Given the description of an element on the screen output the (x, y) to click on. 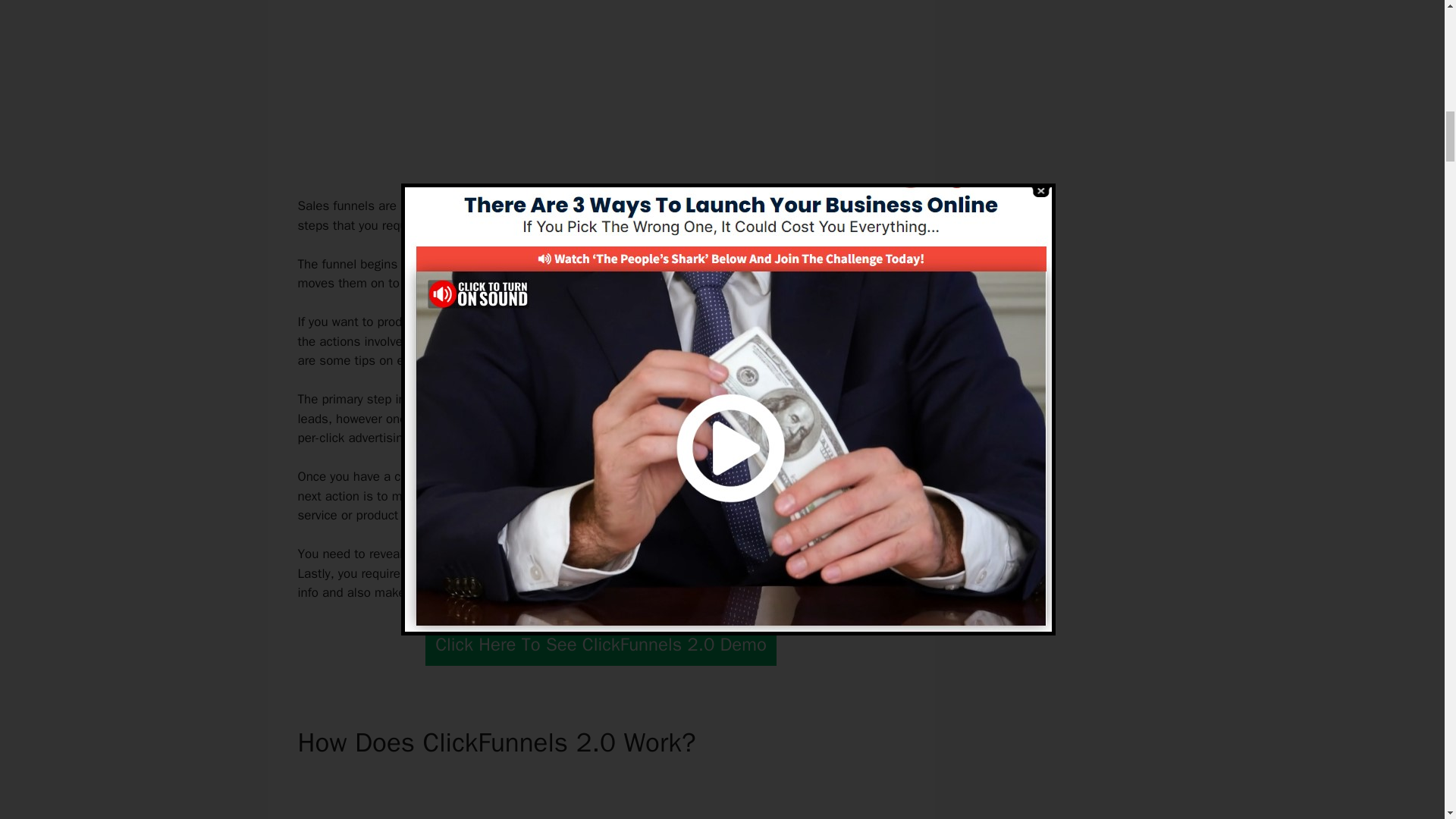
YouTube video player (596, 796)
consideration stage (587, 496)
Click Here To See ClickFunnels 2.0 Demo (600, 644)
